Given the description of an element on the screen output the (x, y) to click on. 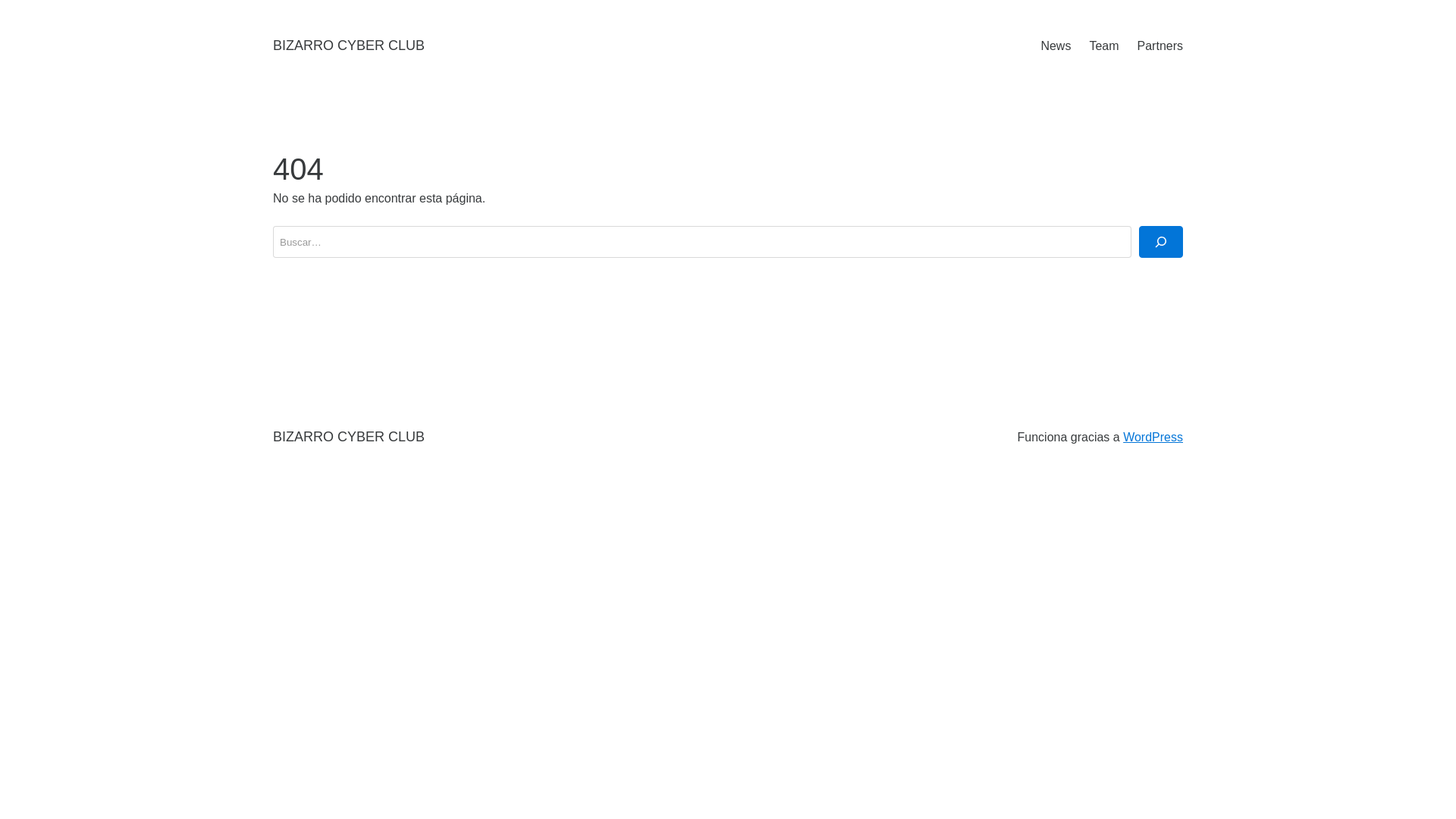
BIZARRO CYBER CLUB Element type: text (348, 45)
WordPress Element type: text (1153, 436)
Partners Element type: text (1160, 46)
BIZARRO CYBER CLUB Element type: text (348, 436)
Team Element type: text (1103, 46)
News Element type: text (1055, 46)
